Given the description of an element on the screen output the (x, y) to click on. 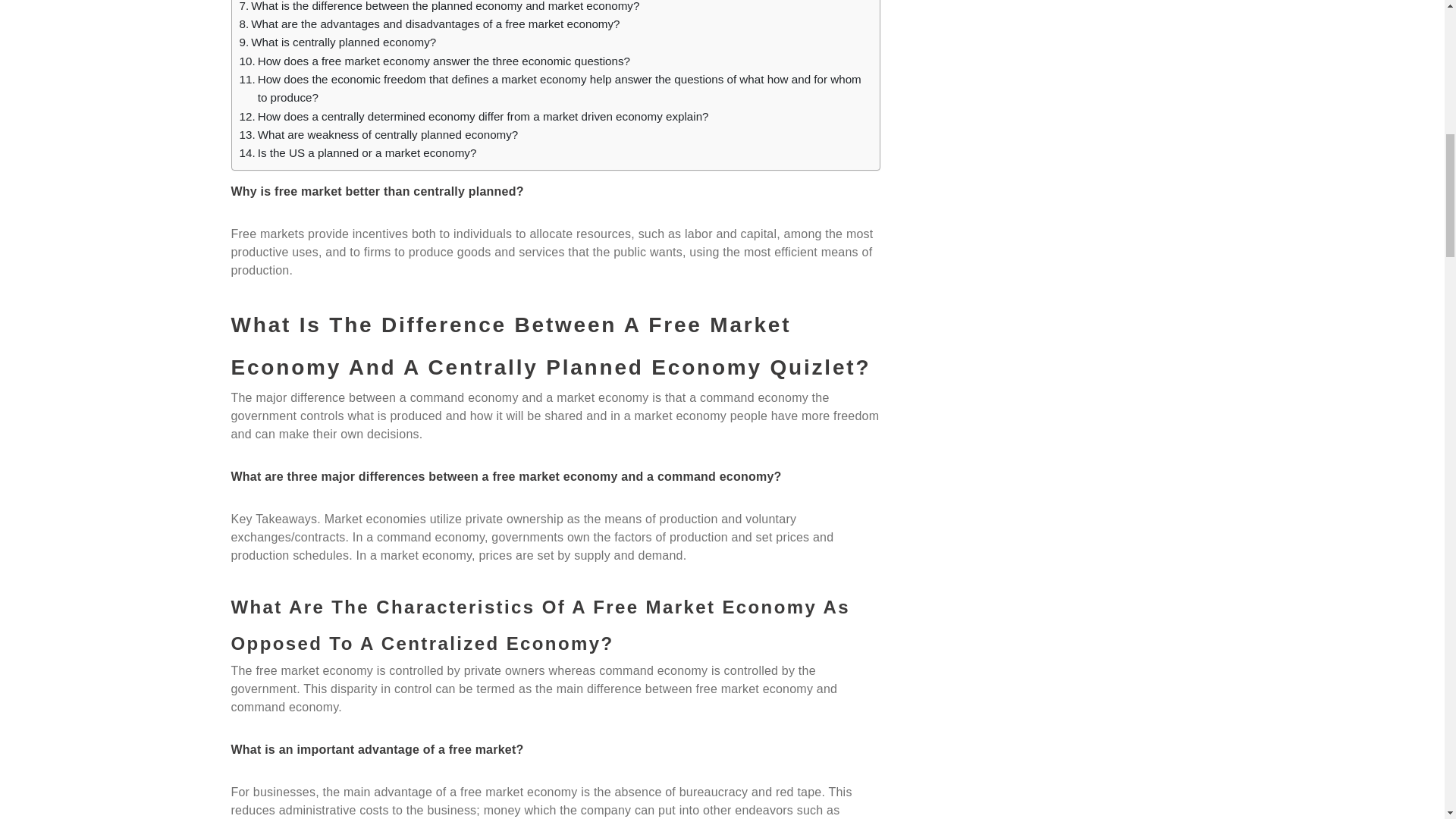
Is the US a planned or a market economy? (358, 153)
What is centrally planned economy? (338, 42)
Is the US a planned or a market economy? (358, 153)
What is centrally planned economy? (338, 42)
What are weakness of centrally planned economy? (379, 135)
What are weakness of centrally planned economy? (379, 135)
